Given the description of an element on the screen output the (x, y) to click on. 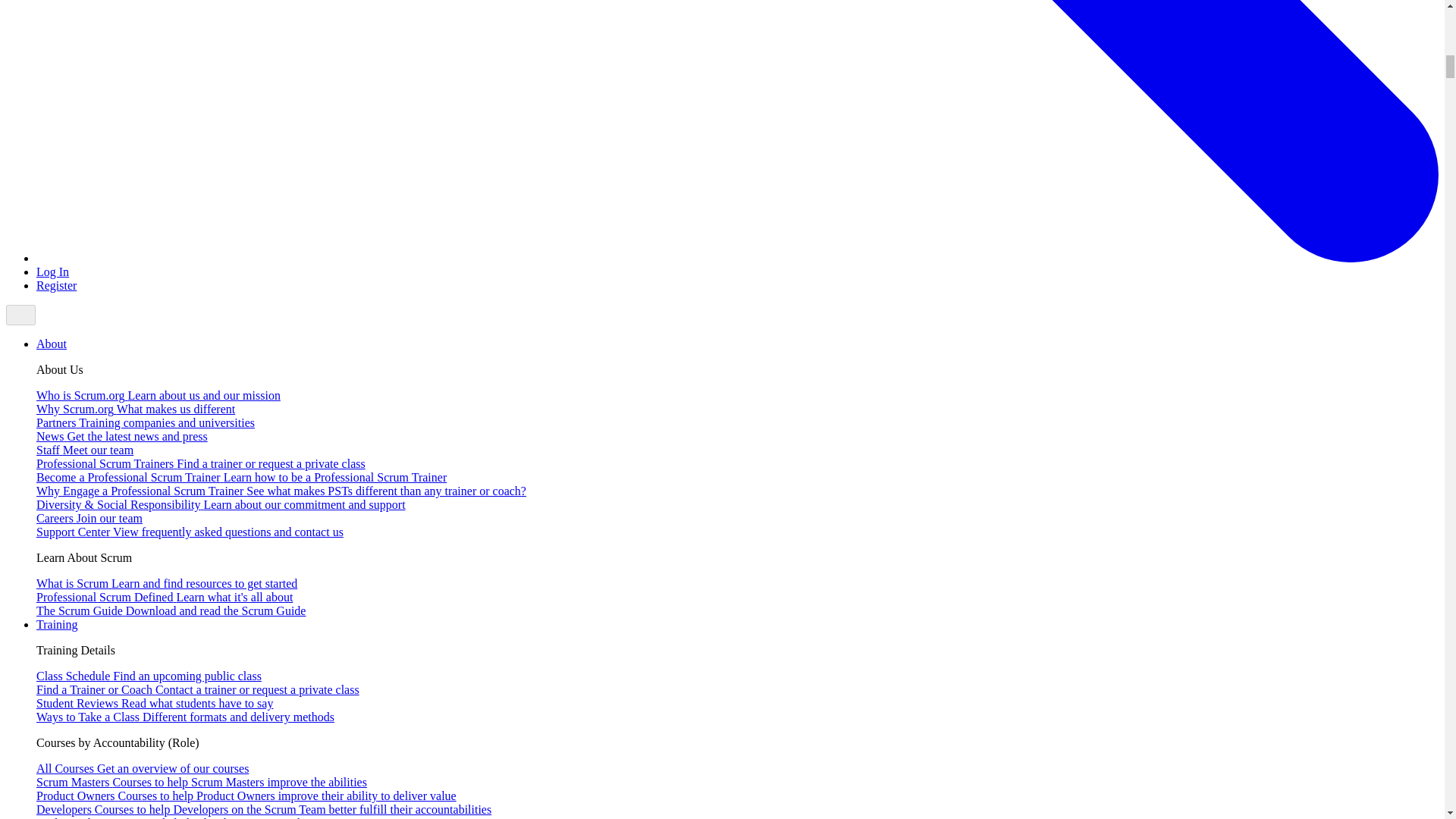
Log In (52, 271)
What is Scrum Learn and find resources to get started (166, 583)
Student Reviews Read what students have to say (154, 703)
Training (57, 624)
Partners Training companies and universities (145, 422)
The Scrum Guide Download and read the Scrum Guide (170, 610)
Professional Scrum Defined Learn what it's all about (164, 596)
Why Scrum.org What makes us different (135, 408)
Ways to Take a Class Different formats and delivery methods (185, 716)
